Given the description of an element on the screen output the (x, y) to click on. 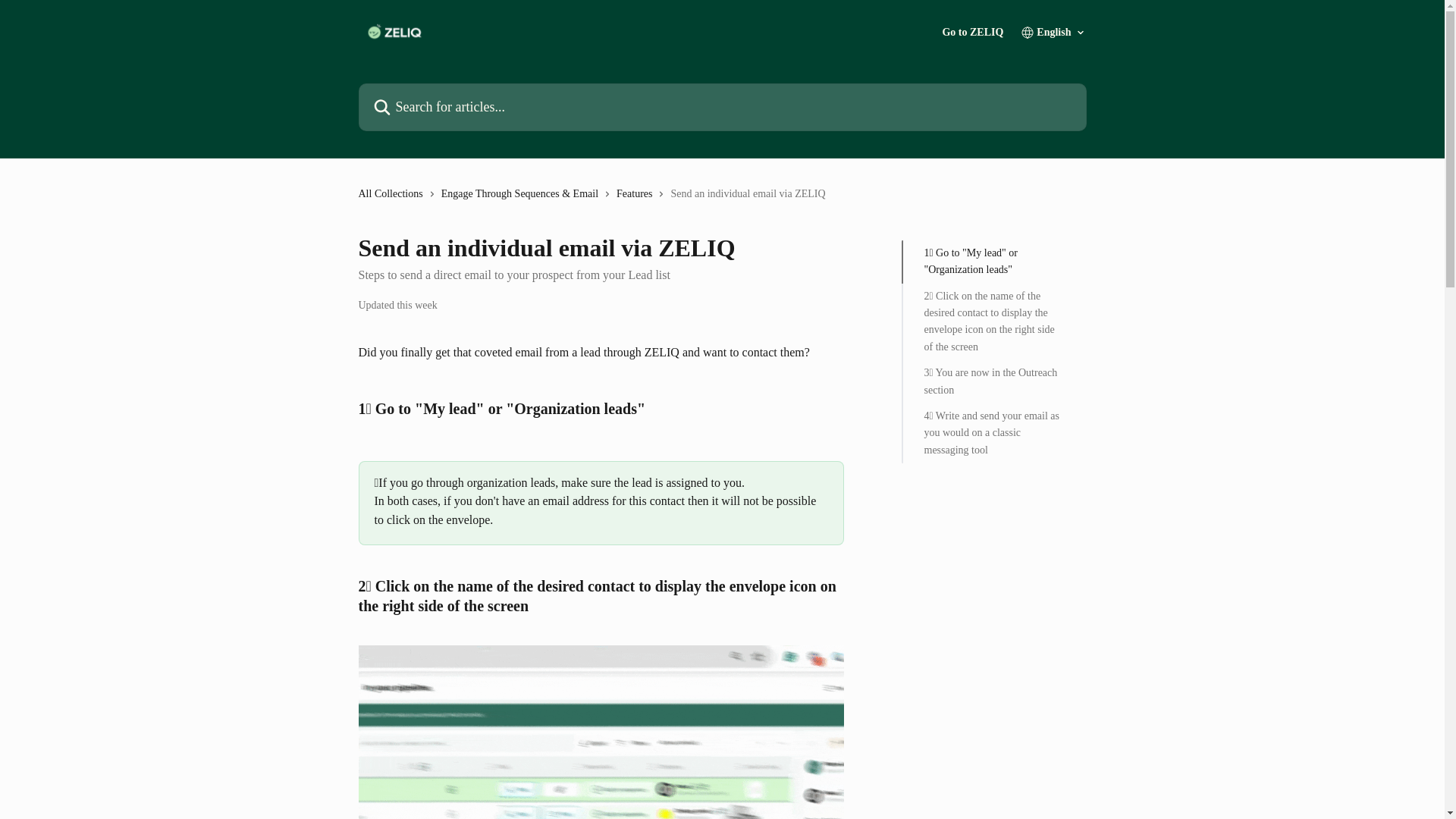
Go to ZELIQ (972, 32)
All Collections (393, 193)
Features (636, 193)
